Given the description of an element on the screen output the (x, y) to click on. 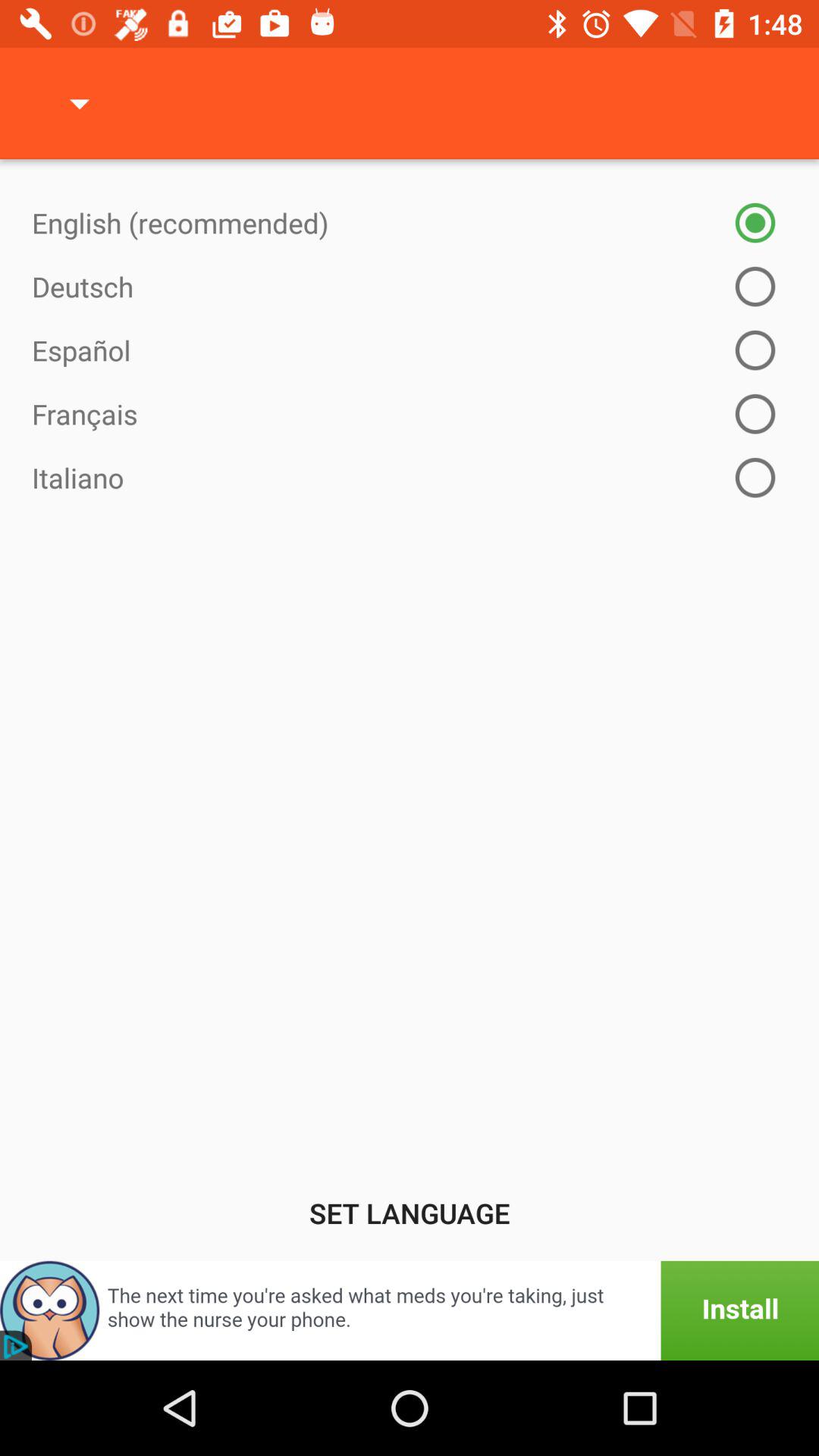
get more information on advertisement (409, 1310)
